Given the description of an element on the screen output the (x, y) to click on. 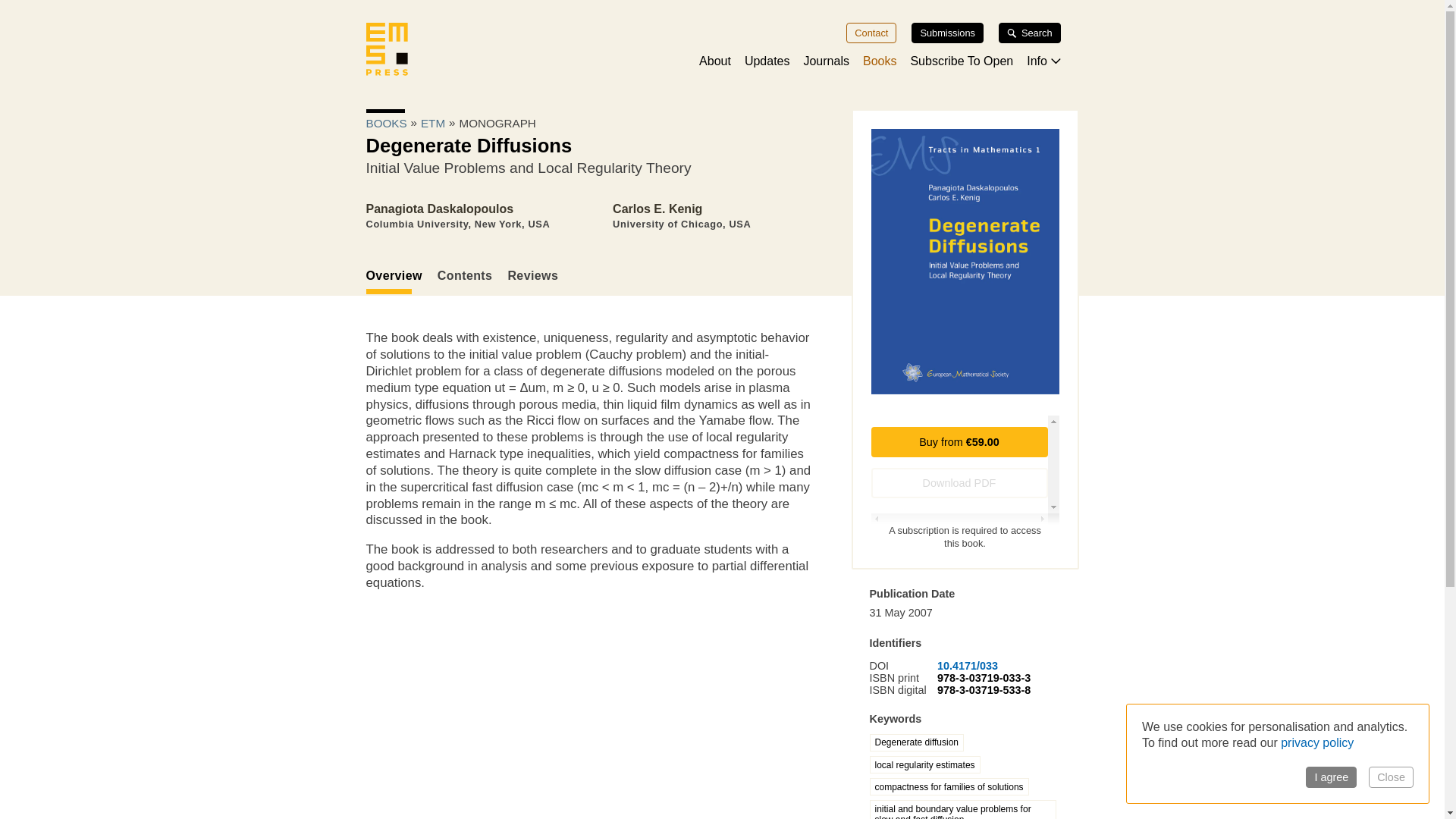
Currently you do not have access to this article. (958, 482)
I agree (1331, 776)
Journals (825, 60)
About (714, 60)
BOOKS (385, 123)
Books (879, 60)
Search (1029, 32)
Reviews (539, 275)
Info (1042, 60)
Subscribe To Open (961, 60)
ETM (432, 123)
Updates (767, 60)
Download PDF (958, 482)
Contact (870, 32)
Overview (400, 281)
